Given the description of an element on the screen output the (x, y) to click on. 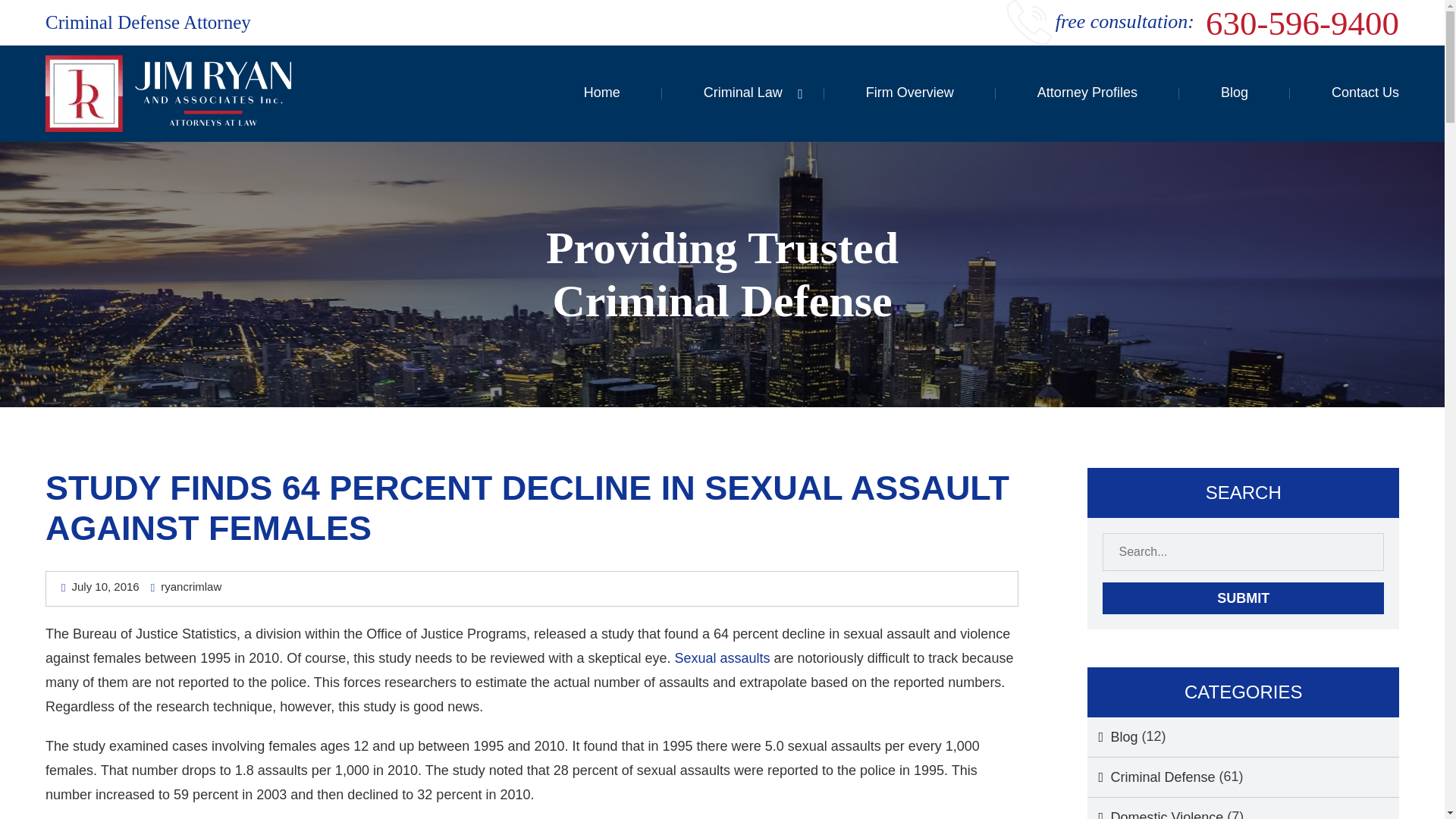
submit (1243, 598)
 Sexual assaults (719, 657)
Attorney Profiles (1087, 92)
Blog (1112, 736)
630-596-9400 (1296, 23)
Criminal Law (743, 92)
Blog (1234, 92)
Criminal Defense (1150, 776)
Firm Overview (909, 92)
July 10, 2016 (100, 585)
